Given the description of an element on the screen output the (x, y) to click on. 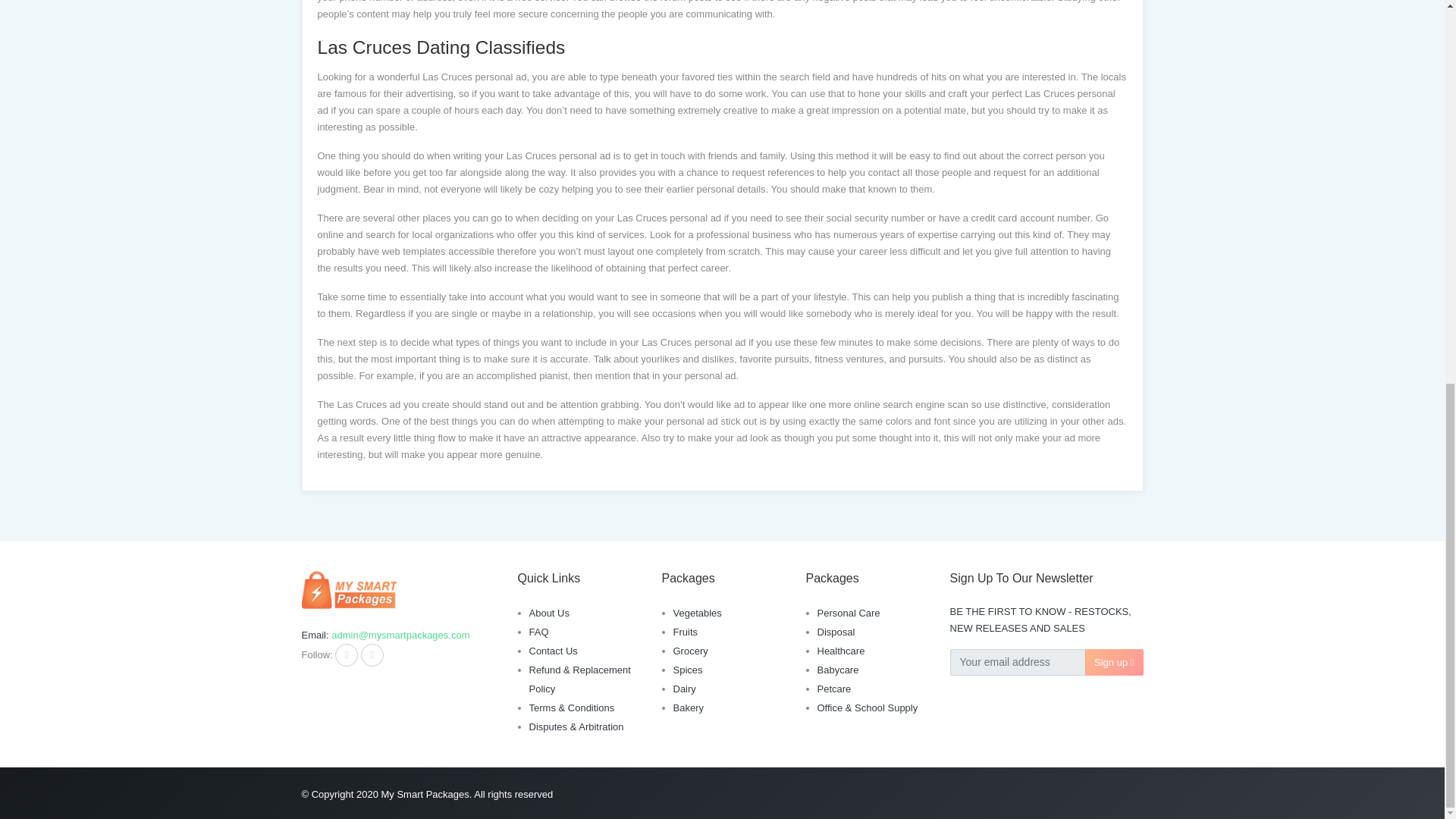
About Us (549, 613)
Vegetables (697, 613)
twitter (372, 654)
Contact Us (553, 650)
FAQ (538, 632)
facebook (346, 654)
Fruits (685, 632)
